Given the description of an element on the screen output the (x, y) to click on. 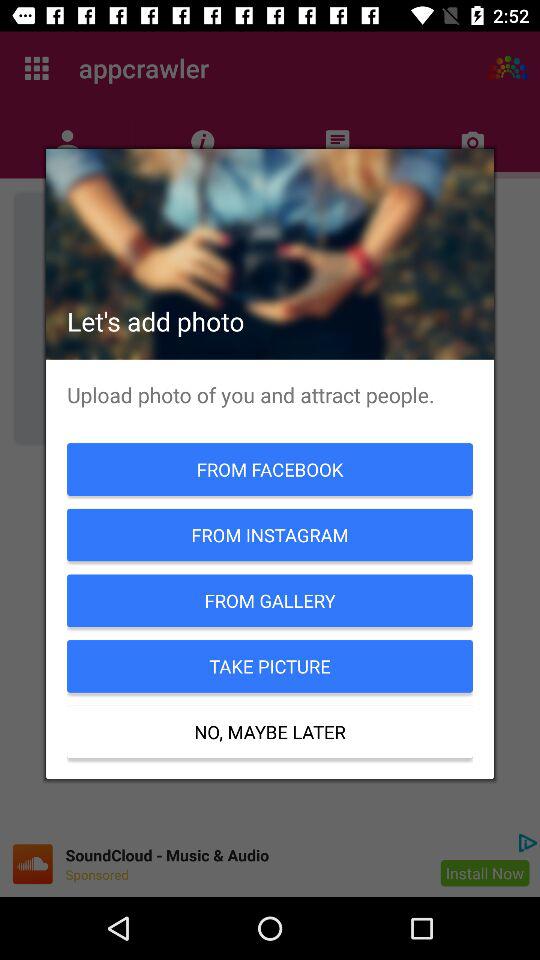
click the icon below the from instagram icon (269, 600)
